Given the description of an element on the screen output the (x, y) to click on. 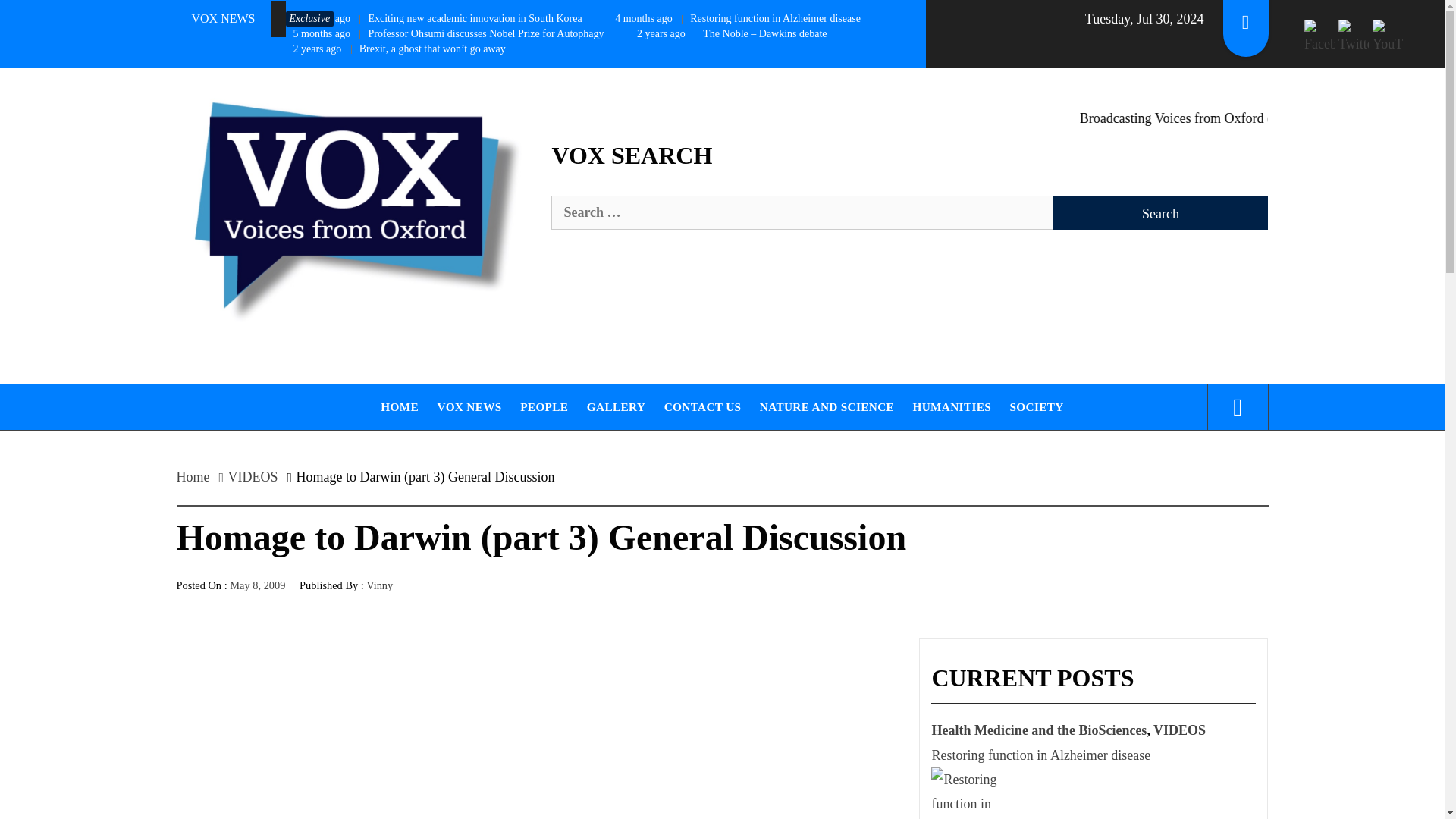
Vinny (379, 585)
HOME (399, 406)
4 months ago Restoring function in Alzheimer disease (737, 18)
VOX Site (222, 101)
PEOPLE (543, 406)
SOCIETY (1037, 406)
May 8, 2009 (257, 585)
Restoring function in Alzheimer disease (986, 793)
VOX NEWS (469, 406)
Search (1160, 212)
CONTACT US (702, 406)
Home (197, 476)
Search (1160, 212)
Search (1160, 212)
Search (797, 37)
